Given the description of an element on the screen output the (x, y) to click on. 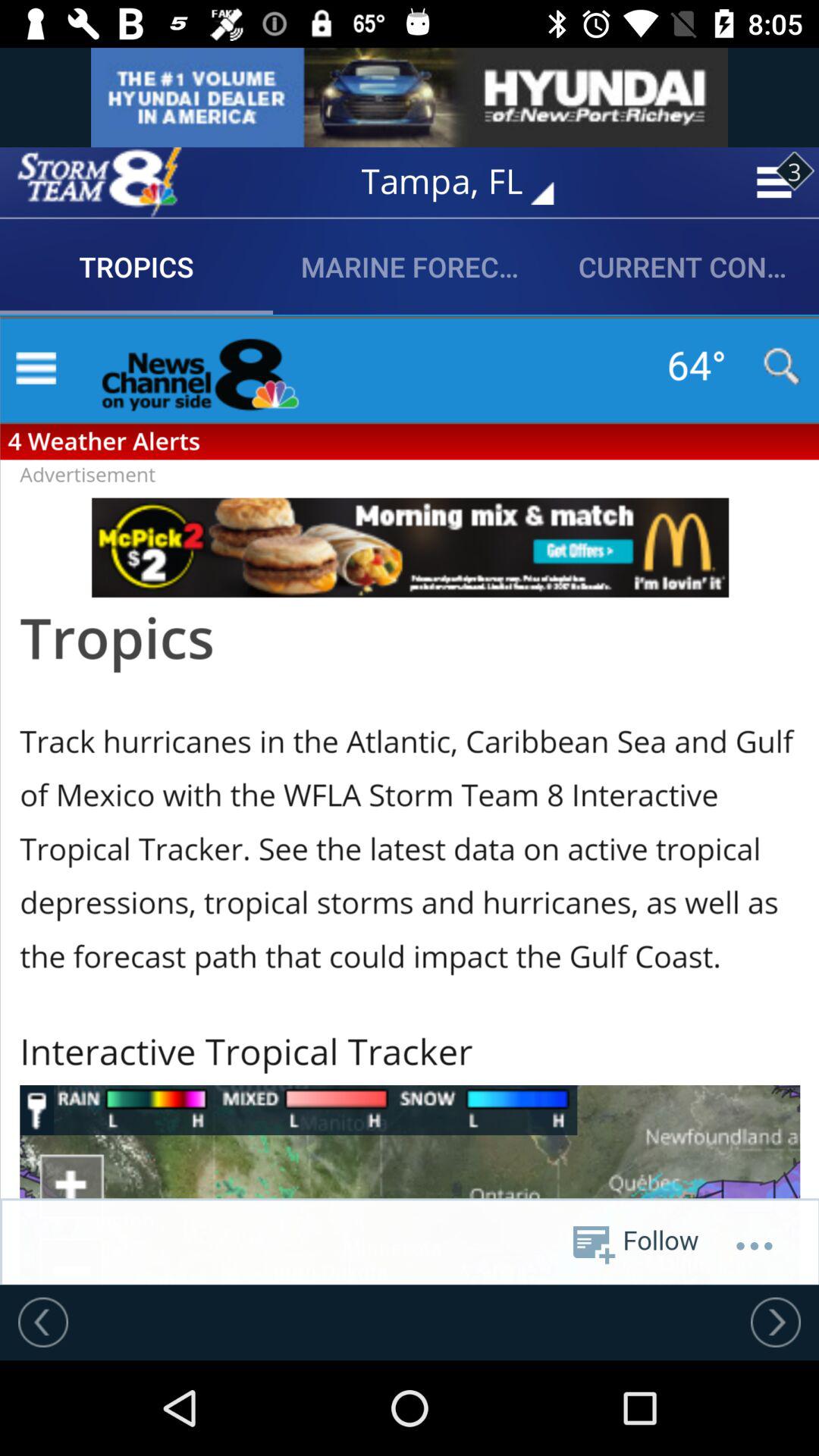
article page (409, 799)
